Given the description of an element on the screen output the (x, y) to click on. 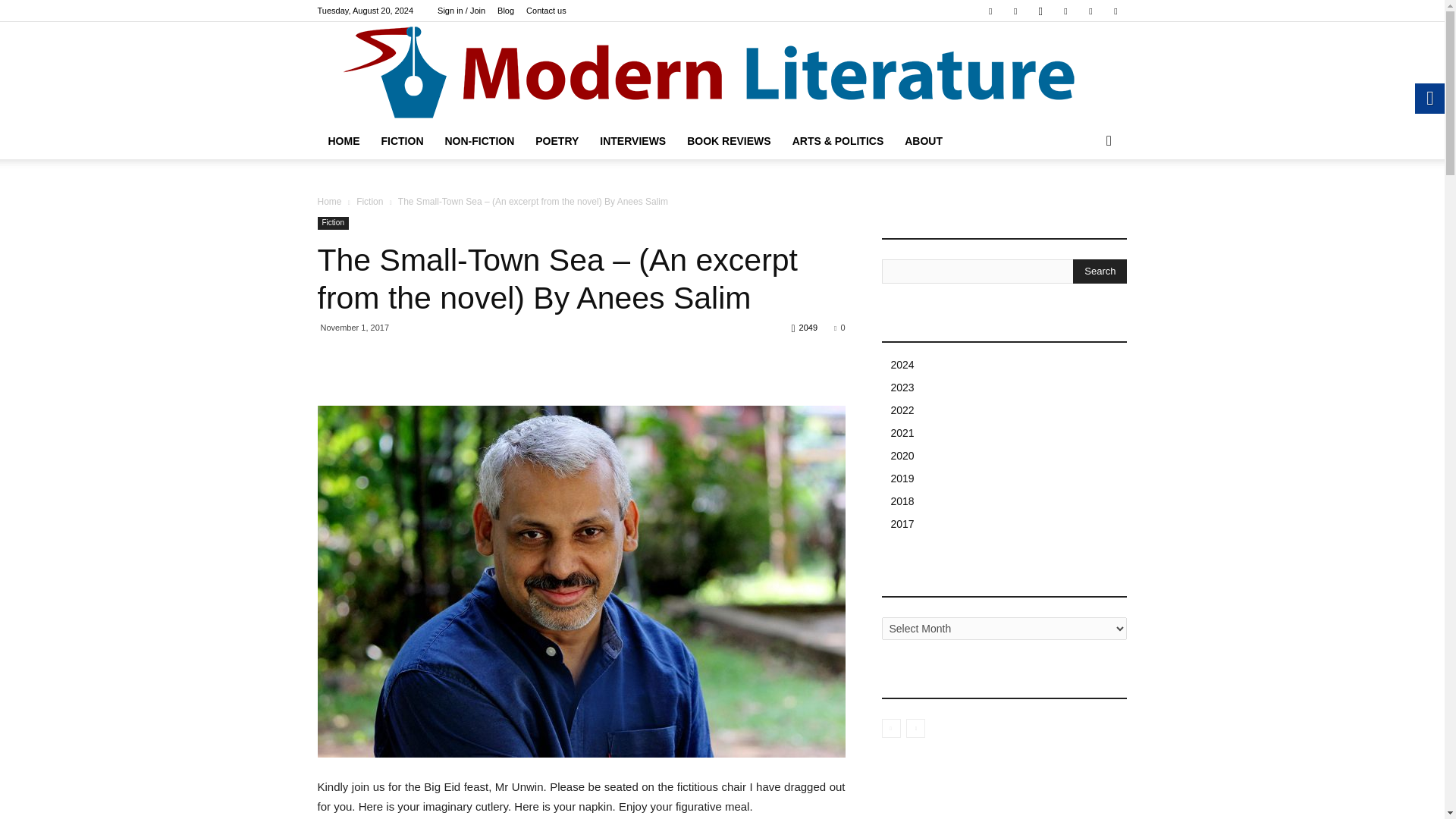
Behance (989, 10)
NON-FICTION (478, 140)
VKontakte (1114, 10)
Search (1099, 271)
Twitter (1065, 10)
HOME (343, 140)
Instagram (1040, 10)
View all posts in Fiction (369, 201)
Vimeo (1090, 10)
